Given the description of an element on the screen output the (x, y) to click on. 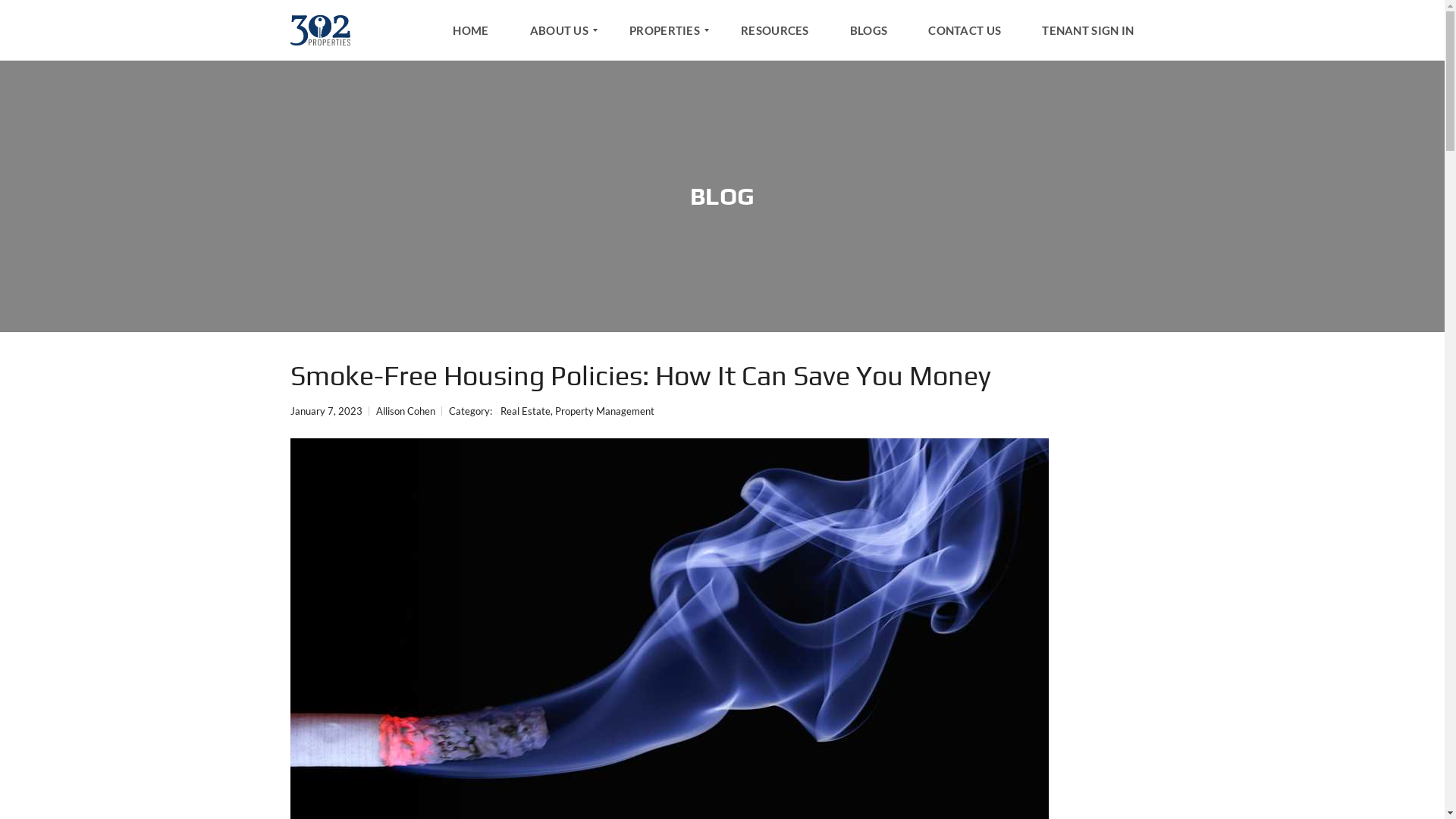
RESOURCES Element type: text (775, 30)
PROPERTIES Element type: text (664, 30)
CONTACT US Element type: text (964, 30)
302 Properties Element type: hover (319, 30)
HOME Element type: text (476, 30)
Real Estate Element type: text (525, 410)
TENANT SIGN IN Element type: text (1087, 30)
Property Management Element type: text (604, 410)
BLOGS Element type: text (868, 30)
ABOUT US Element type: text (559, 30)
